Given the description of an element on the screen output the (x, y) to click on. 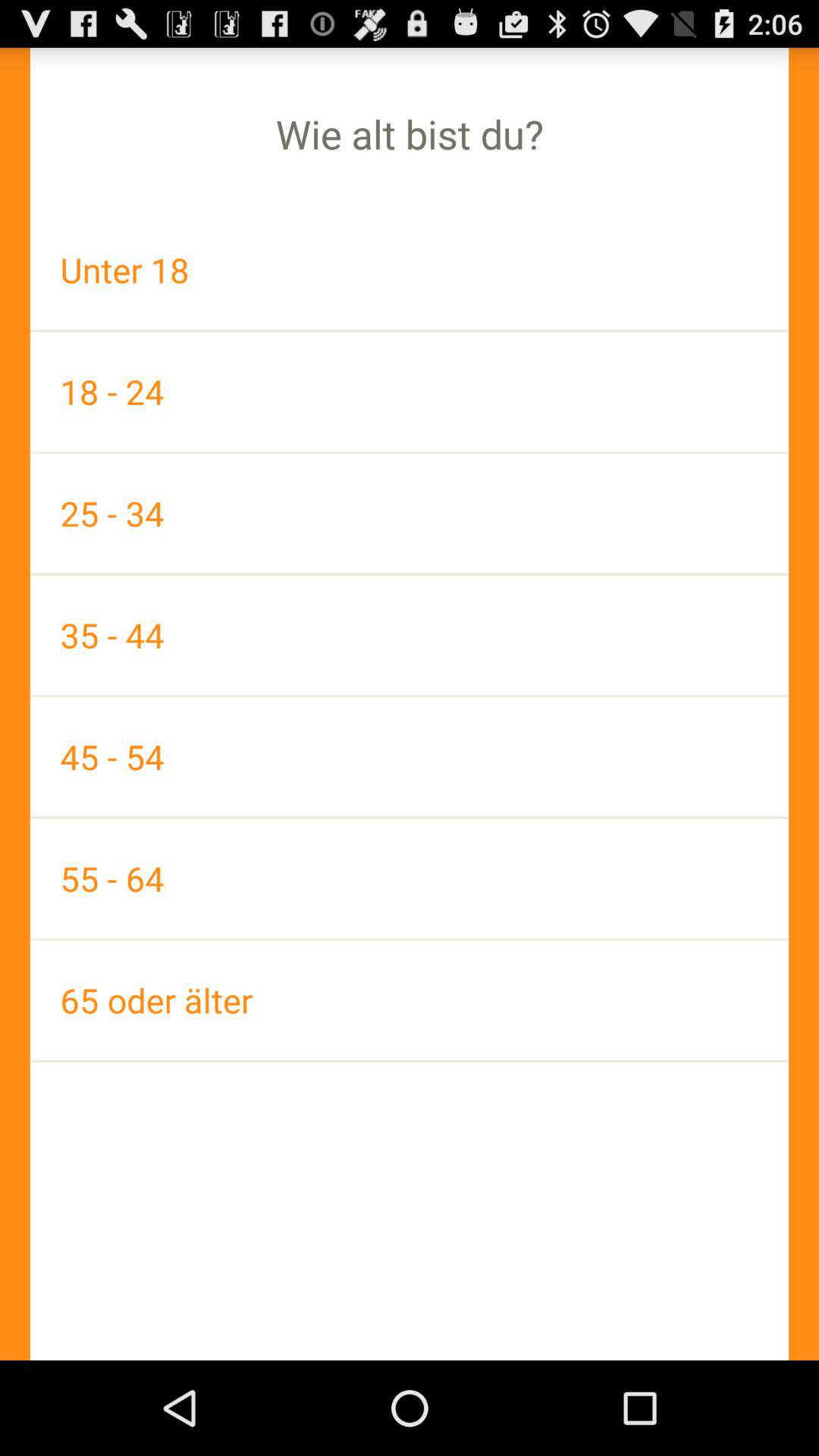
launch item above 35 - 44 icon (409, 513)
